Given the description of an element on the screen output the (x, y) to click on. 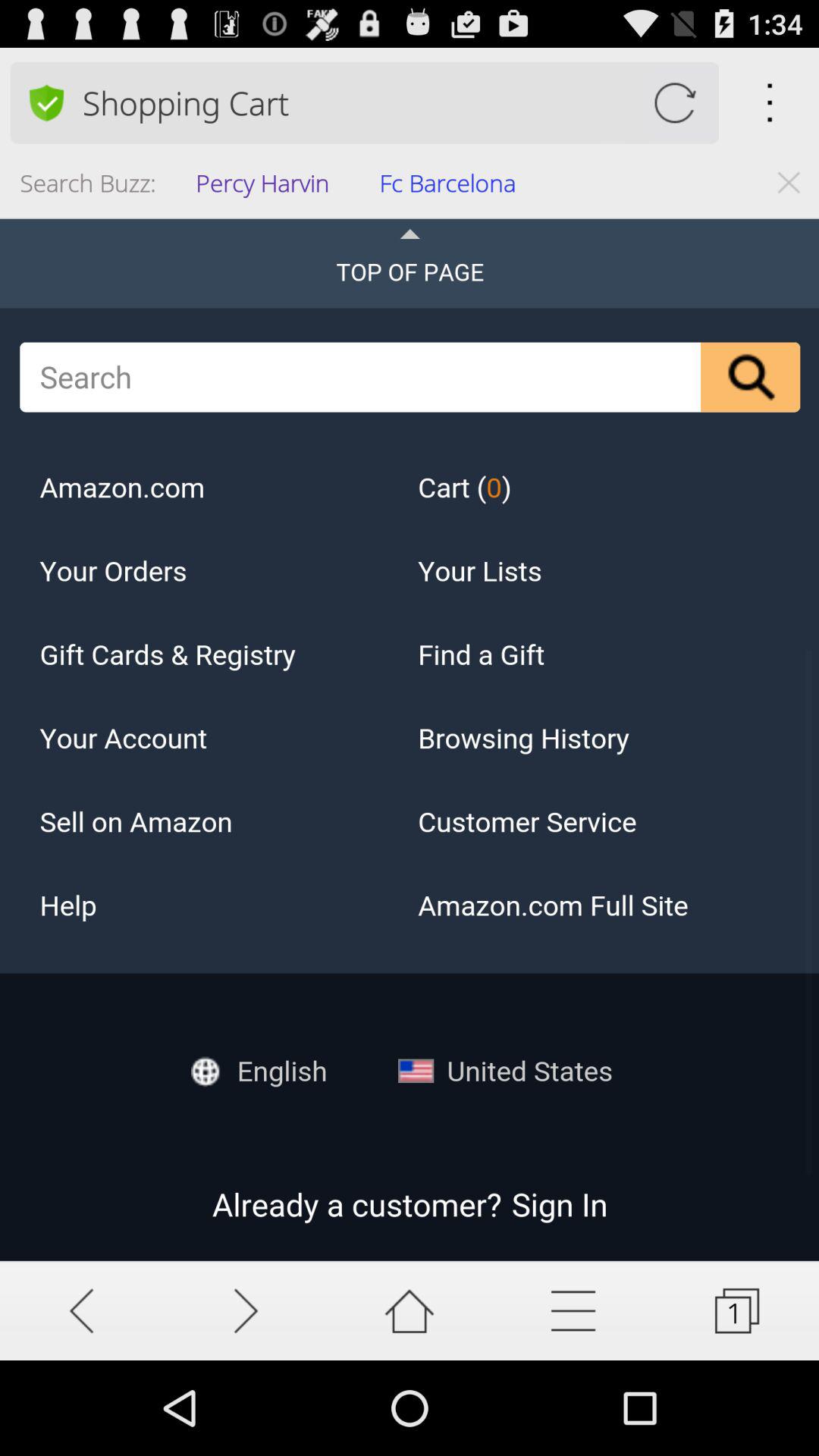
more option (573, 1310)
